Given the description of an element on the screen output the (x, y) to click on. 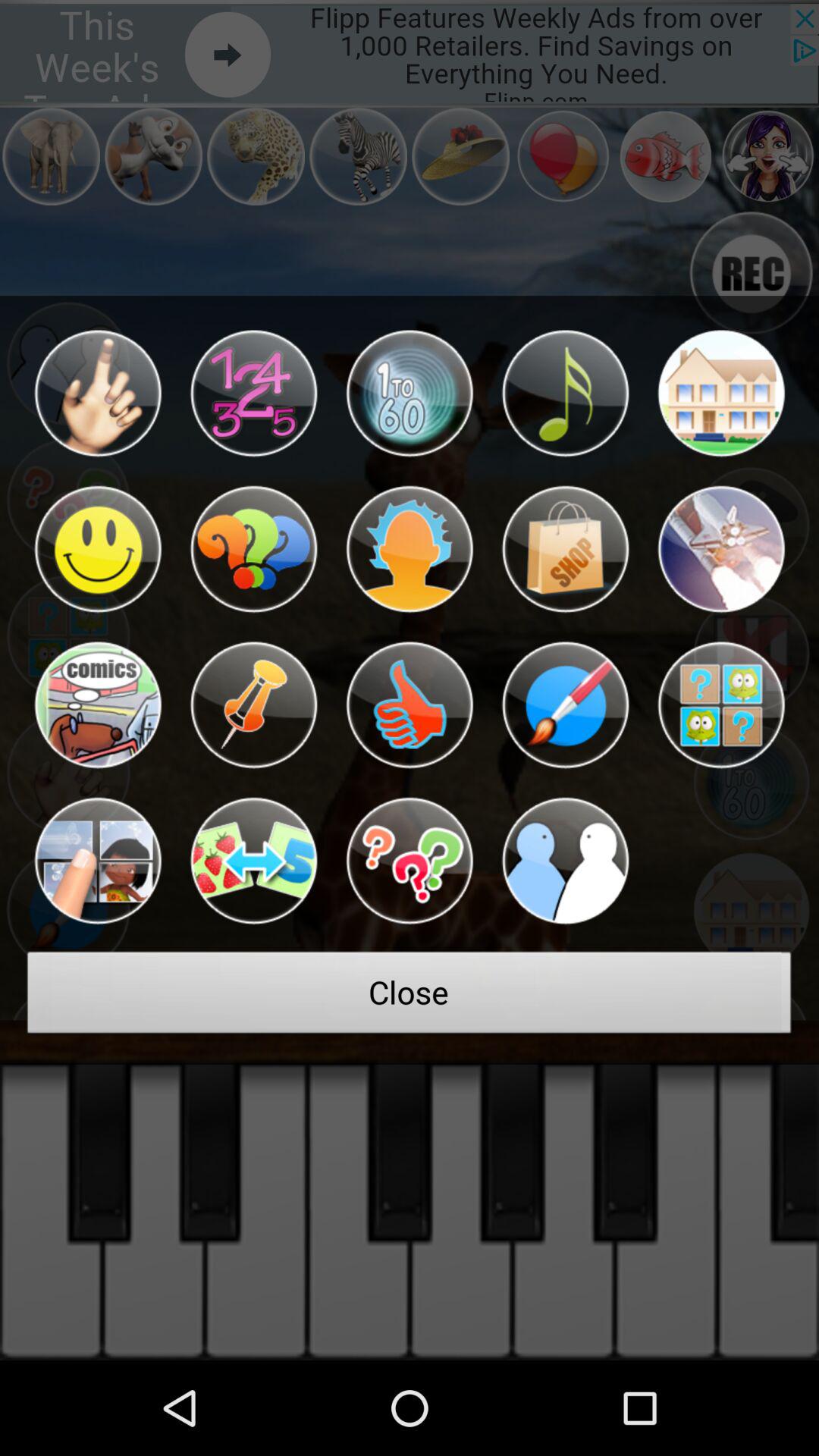
select game (565, 705)
